Given the description of an element on the screen output the (x, y) to click on. 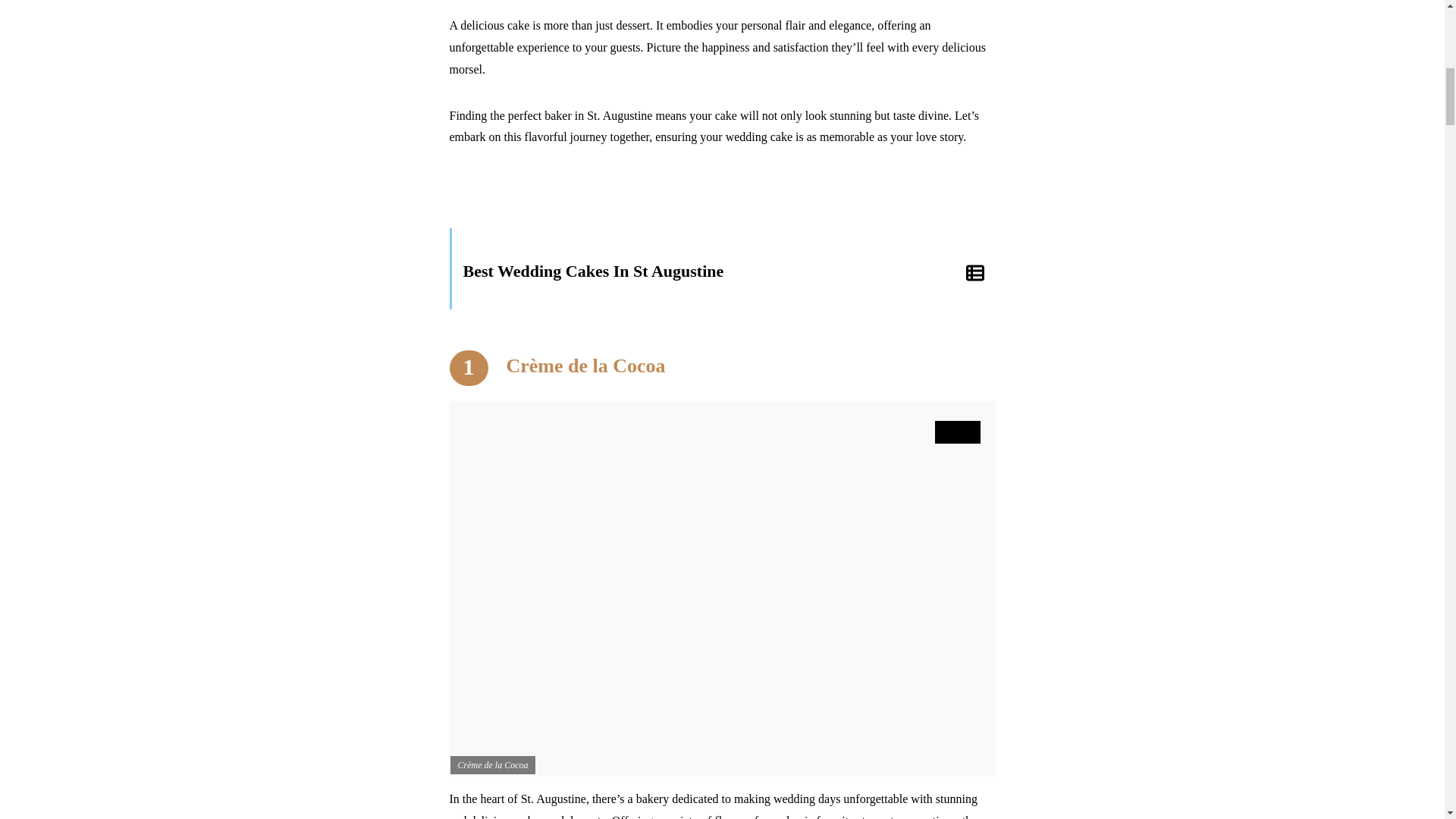
Pin it (956, 431)
